Given the description of an element on the screen output the (x, y) to click on. 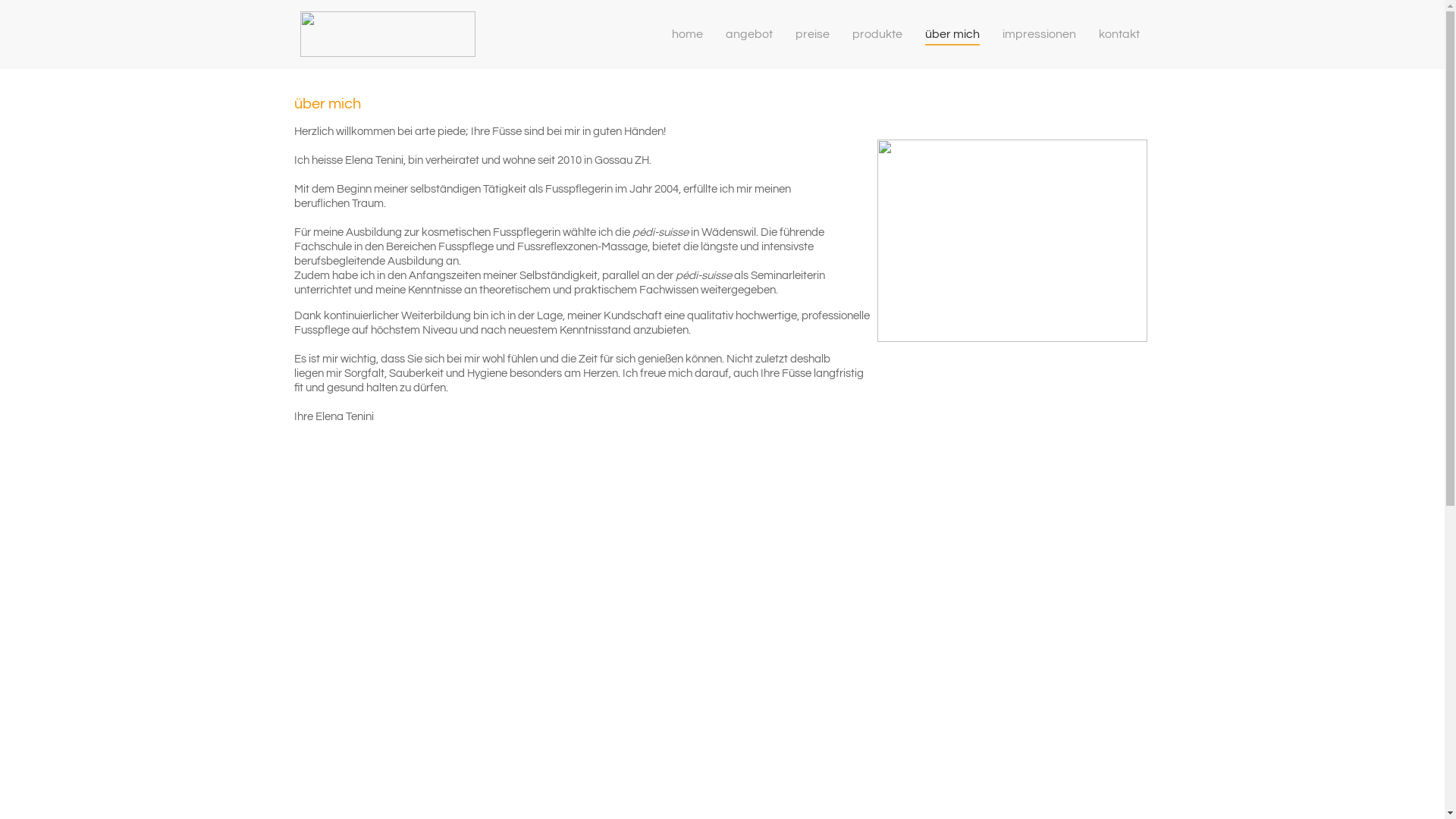
kontakt Element type: text (1118, 34)
produkte Element type: text (877, 34)
home Element type: text (686, 34)
impressionen Element type: text (1039, 34)
angebot Element type: text (747, 34)
preise Element type: text (811, 34)
    Element type: text (403, 34)
